Given the description of an element on the screen output the (x, y) to click on. 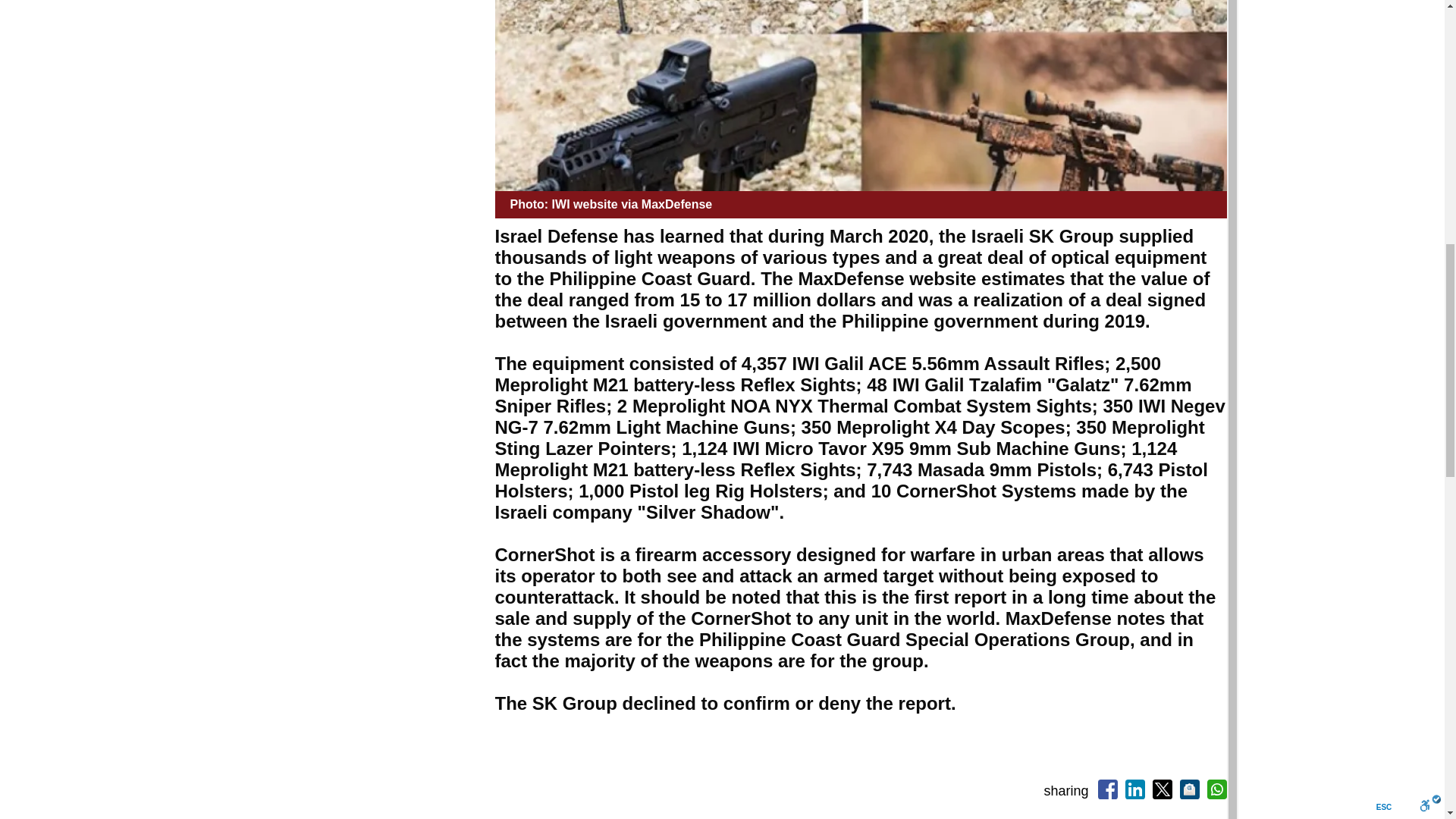
Cancel and Stop display flashes and animations (133, 32)
Replace all the fonts to a readable fonts (997, 32)
Highlighting all headings marked with title tag (652, 32)
High-contrast of black and yellow (478, 32)
High-contrast presentation of page (392, 32)
Navigation on the screen with the keyboard (46, 32)
Display the page in brown sepia color (305, 32)
Presentation of alternative descriptions permanently (911, 32)
Highlighting all links marked with link tag (737, 32)
